Given the description of an element on the screen output the (x, y) to click on. 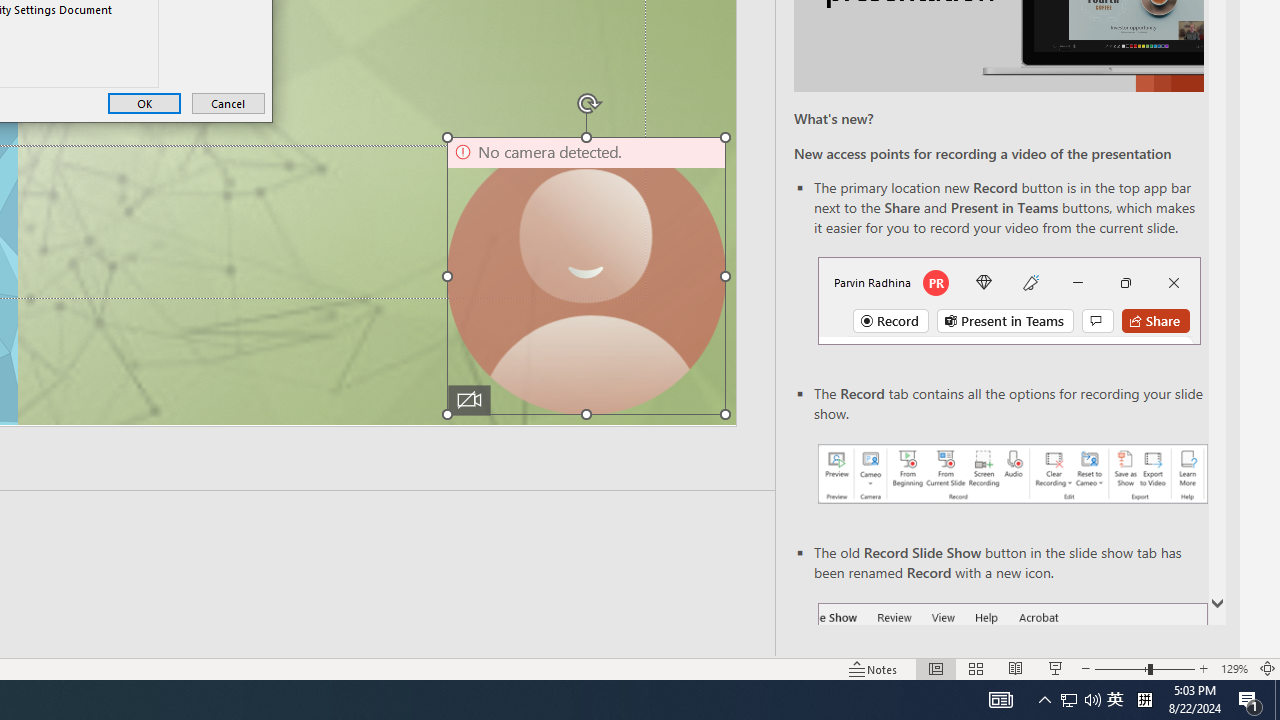
Action Center, 1 new notification (1250, 699)
